Given the description of an element on the screen output the (x, y) to click on. 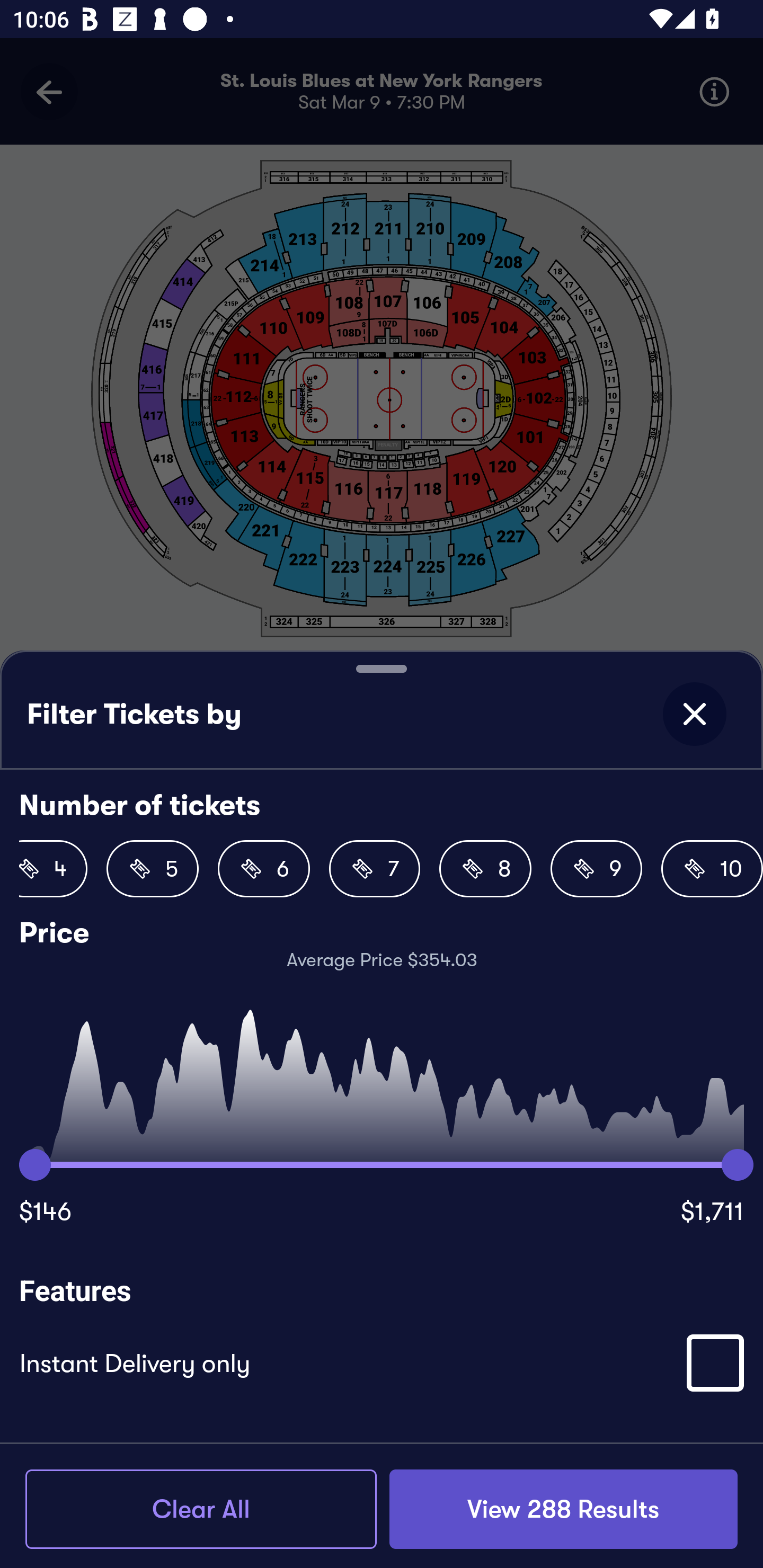
close (694, 714)
4 (53, 868)
5 (152, 868)
6 (263, 868)
7 (374, 868)
8 (485, 868)
9 (596, 868)
10 (712, 868)
Clear All (200, 1509)
View 288 Results (563, 1509)
